Given the description of an element on the screen output the (x, y) to click on. 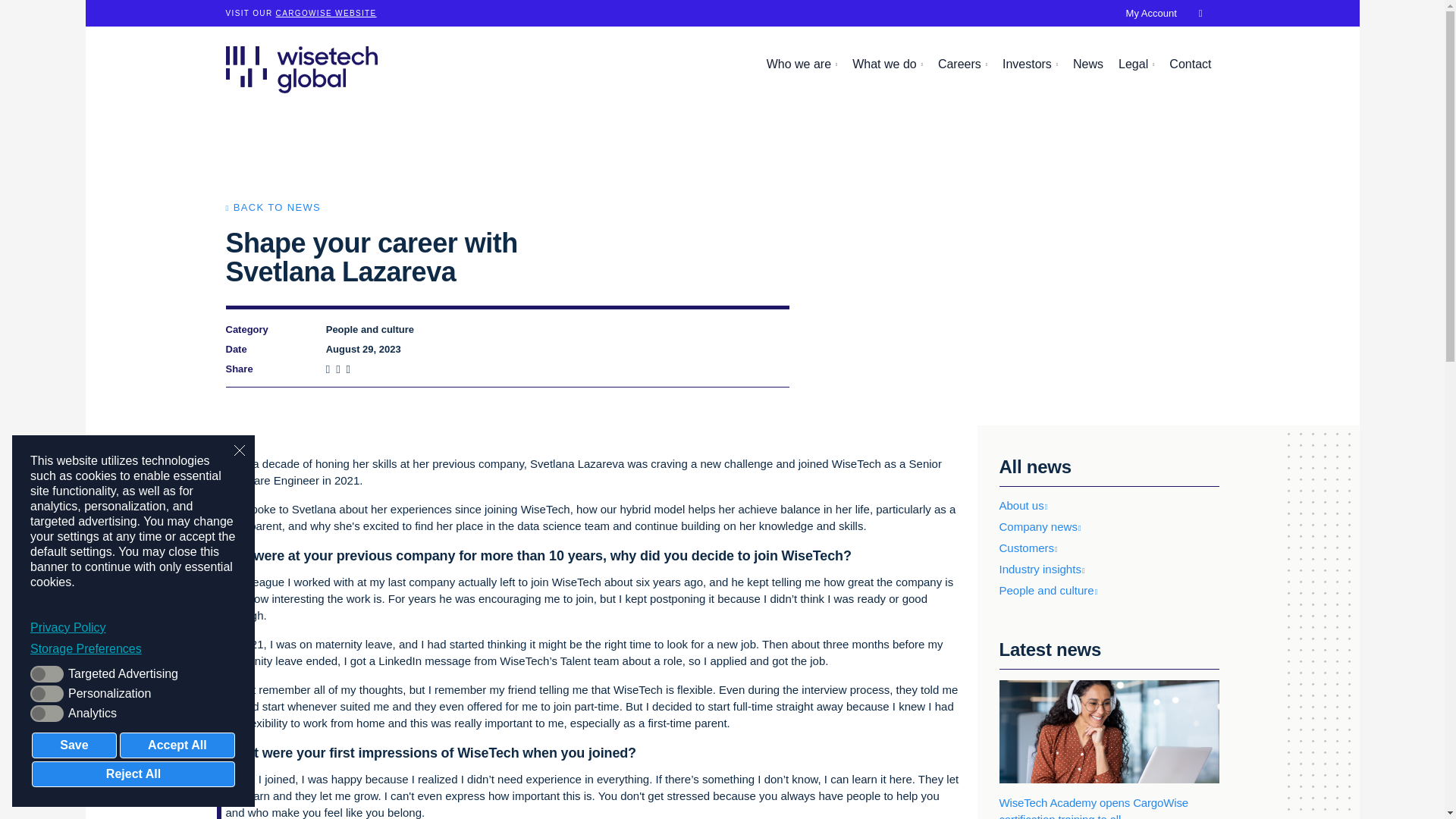
Accept All (176, 745)
Privacy Policy (132, 627)
CargoWise (326, 13)
Who we are (801, 64)
Reject All (133, 774)
Investors (1029, 64)
Storage Preferences (132, 648)
CARGOWISE WEBSITE (326, 13)
What we do (887, 64)
WiseTech Global (301, 69)
